Given the description of an element on the screen output the (x, y) to click on. 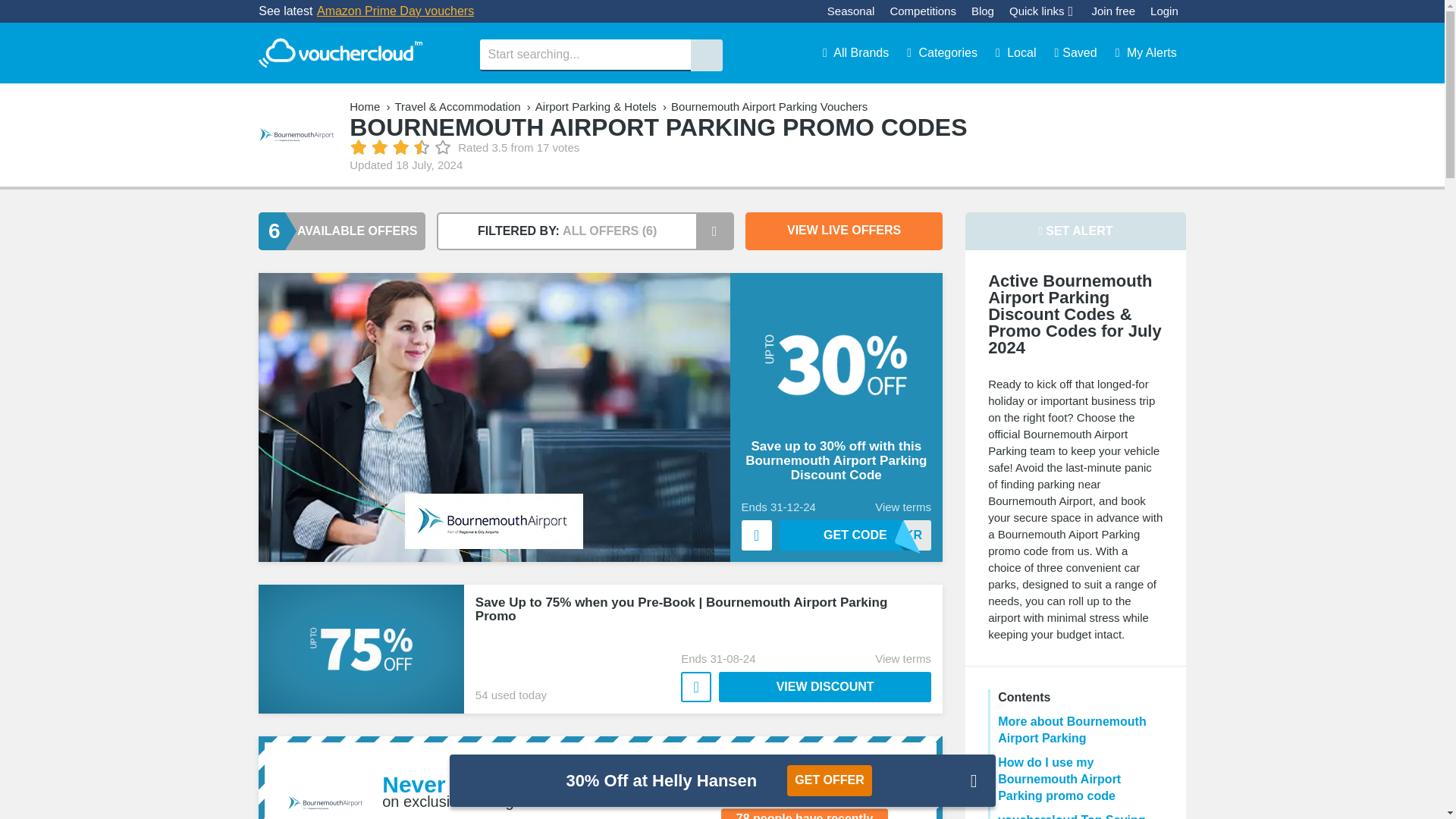
vouchercloud (340, 52)
SEARCH (706, 55)
